Given the description of an element on the screen output the (x, y) to click on. 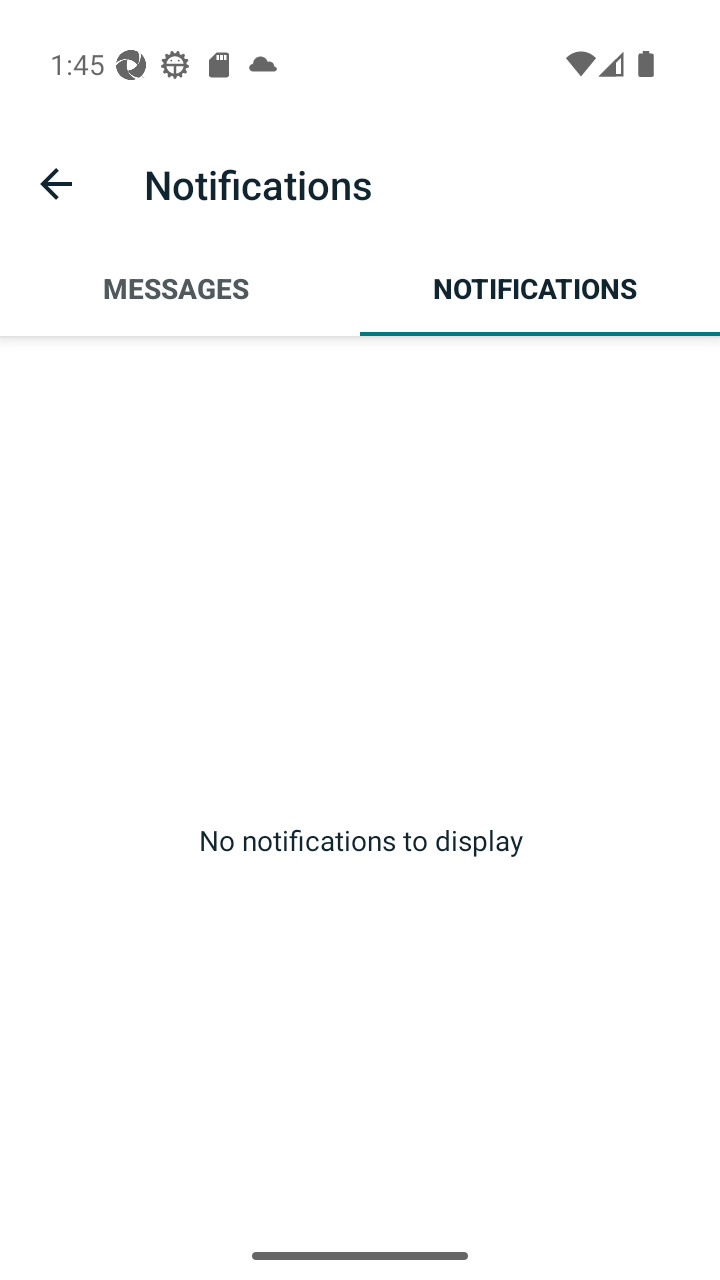
Messages MESSAGES (180, 287)
